Given the description of an element on the screen output the (x, y) to click on. 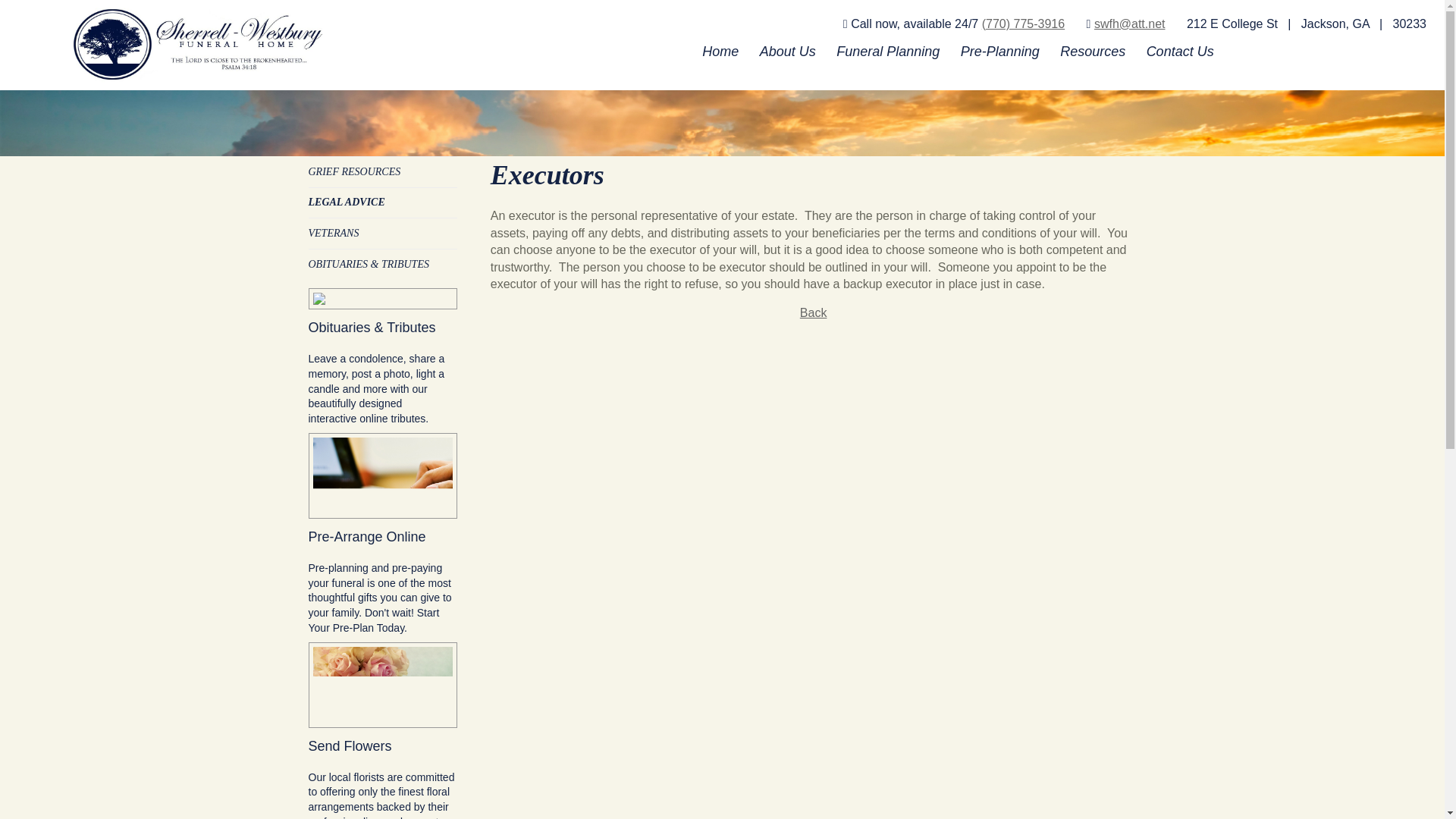
GRIEF RESOURCES (353, 171)
Contact Us (1180, 50)
Resources (1093, 50)
Funeral Planning (888, 50)
Back (813, 312)
About Us (787, 50)
Pre-Planning (999, 50)
LEGAL ADVICE (345, 202)
Home (720, 50)
VETERANS (332, 233)
